Given the description of an element on the screen output the (x, y) to click on. 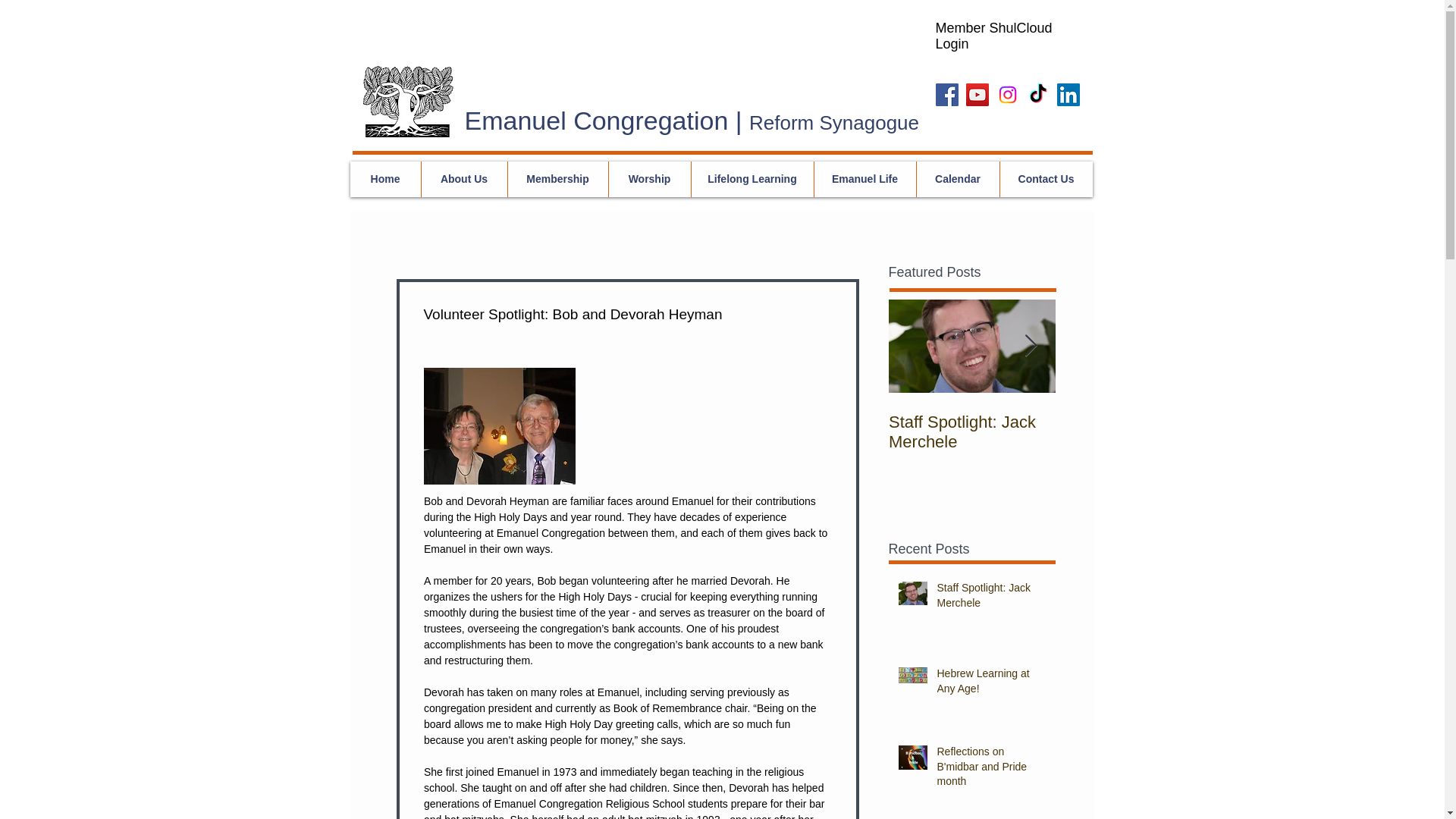
Membership (556, 179)
Member ShulCloud Login (994, 35)
Home (385, 179)
Contact Us (1045, 179)
Calendar (956, 179)
Emanuel Life (863, 179)
Lifelong Learning (751, 179)
